Given the description of an element on the screen output the (x, y) to click on. 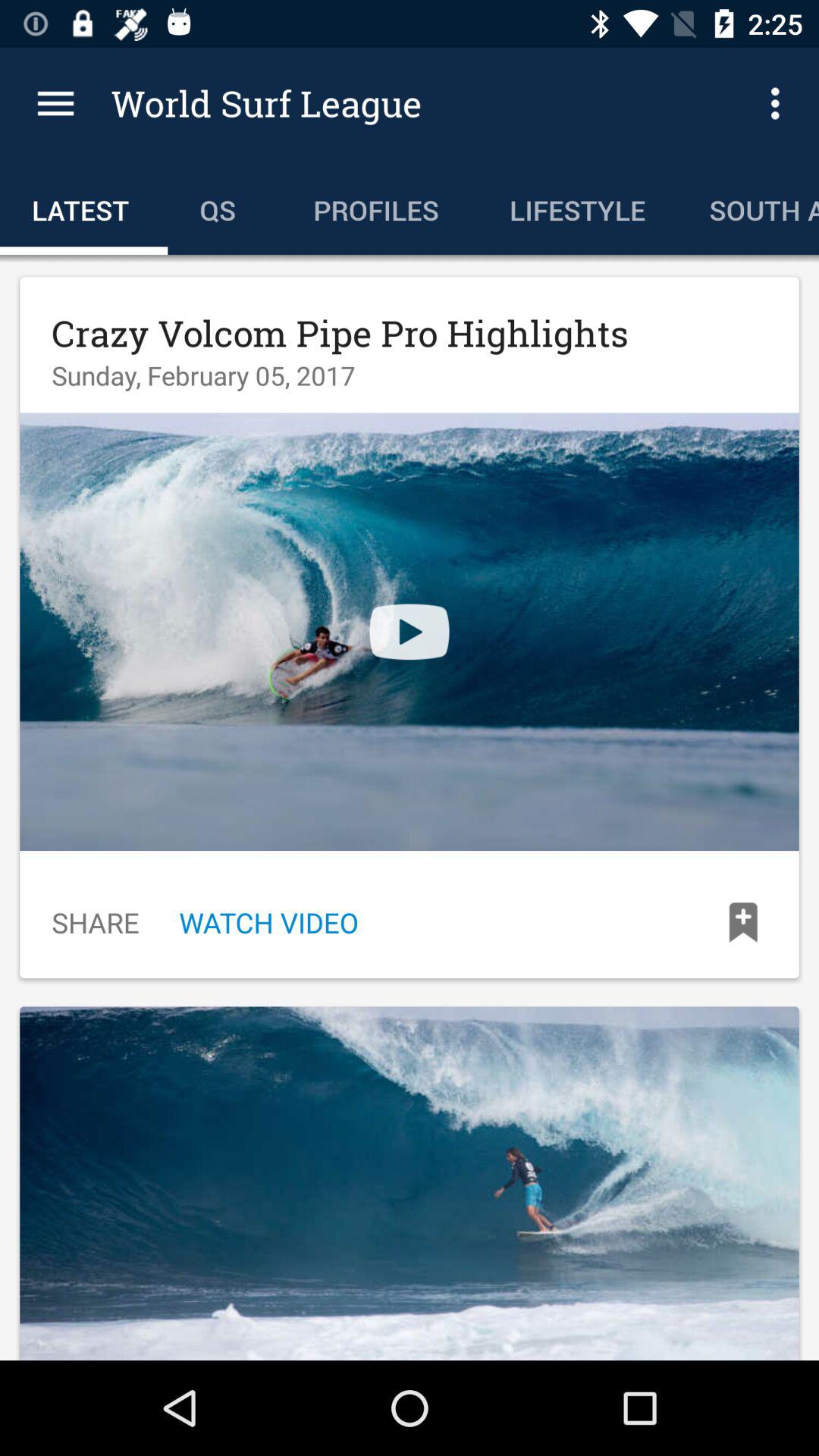
scroll until the sunday february 05 item (203, 375)
